Given the description of an element on the screen output the (x, y) to click on. 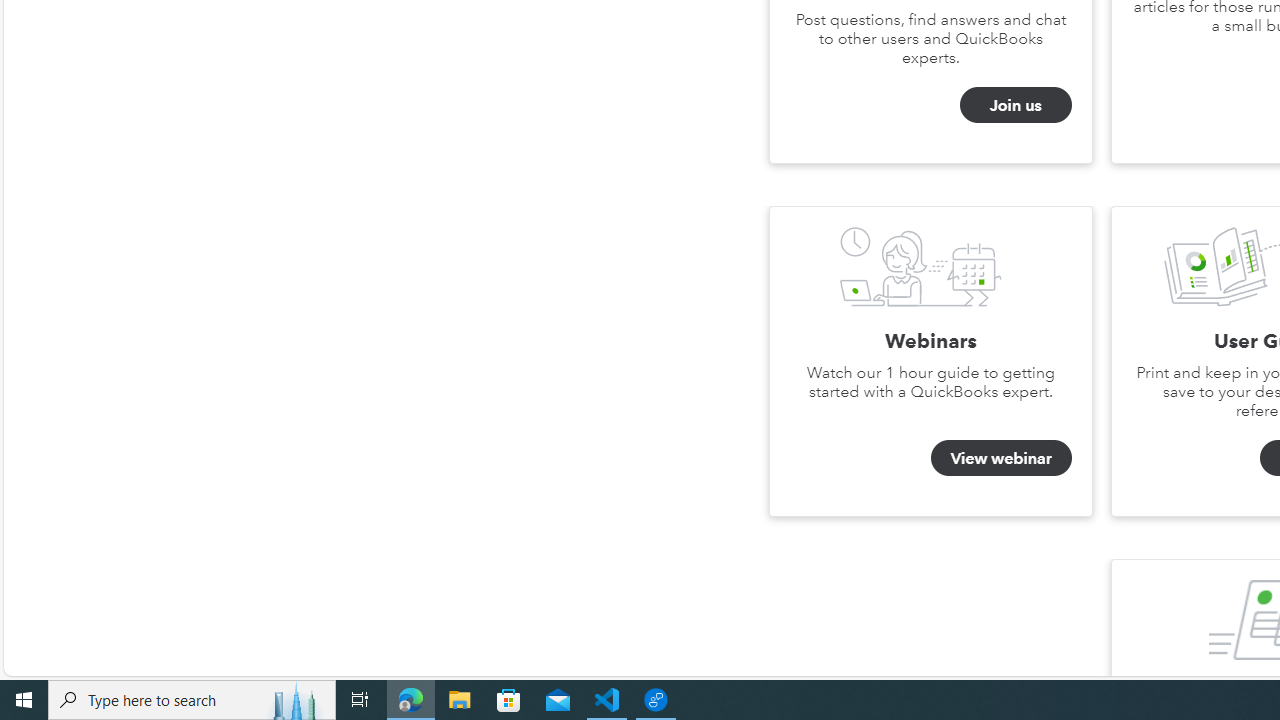
Webinars (920, 266)
View webinar (1001, 457)
Join us (1015, 105)
